Given the description of an element on the screen output the (x, y) to click on. 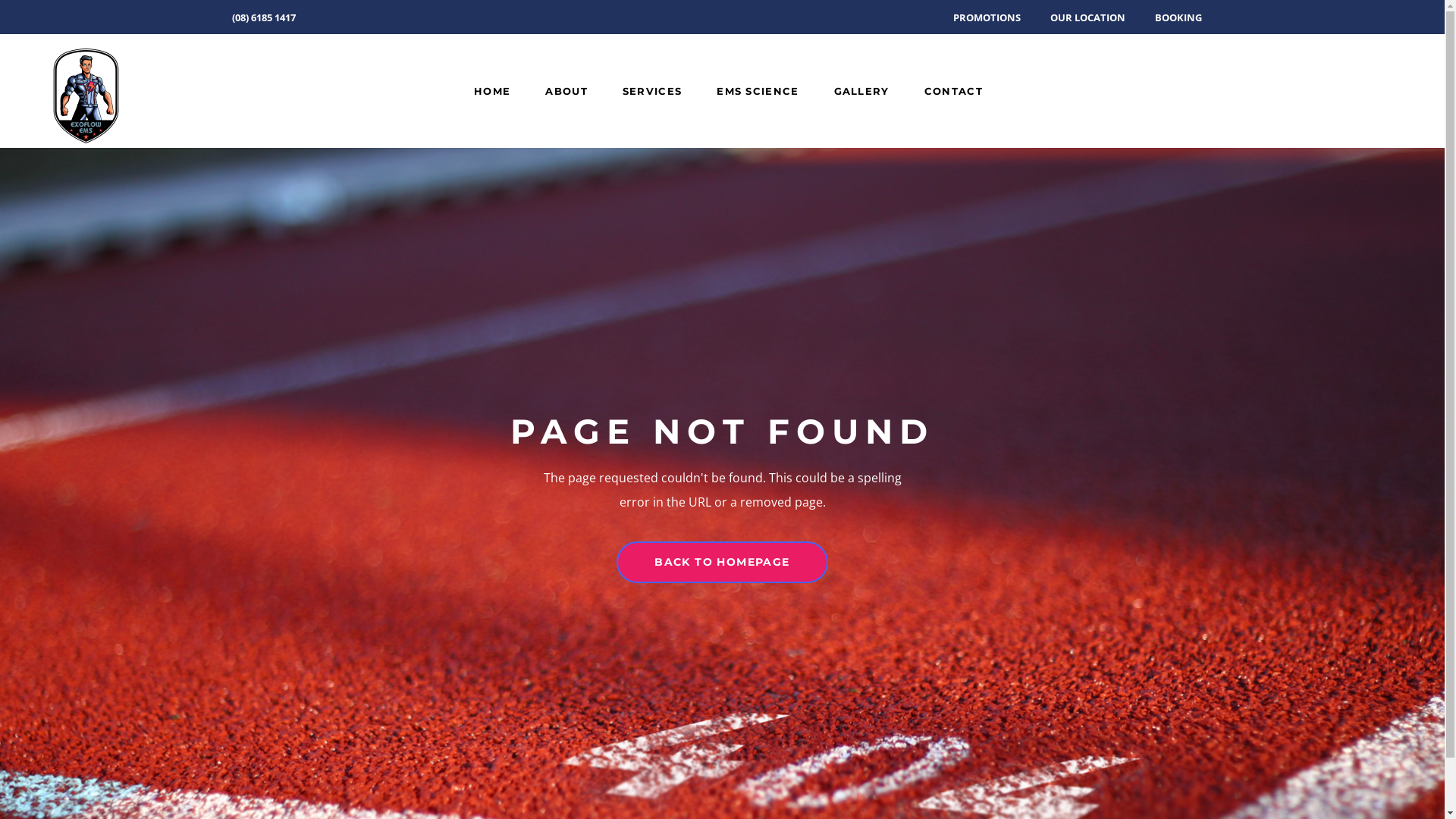
(08) 6185 1417 Element type: text (263, 17)
GALLERY Element type: text (861, 90)
ABOUT Element type: text (566, 90)
BACK TO HOMEPAGE Element type: text (721, 562)
OUR LOCATION Element type: text (1086, 17)
HOME Element type: text (491, 90)
CONTACT Element type: text (953, 90)
PROMOTIONS Element type: text (985, 17)
SERVICES Element type: text (652, 90)
BOOKING Element type: text (1177, 17)
EMS SCIENCE Element type: text (757, 90)
